Given the description of an element on the screen output the (x, y) to click on. 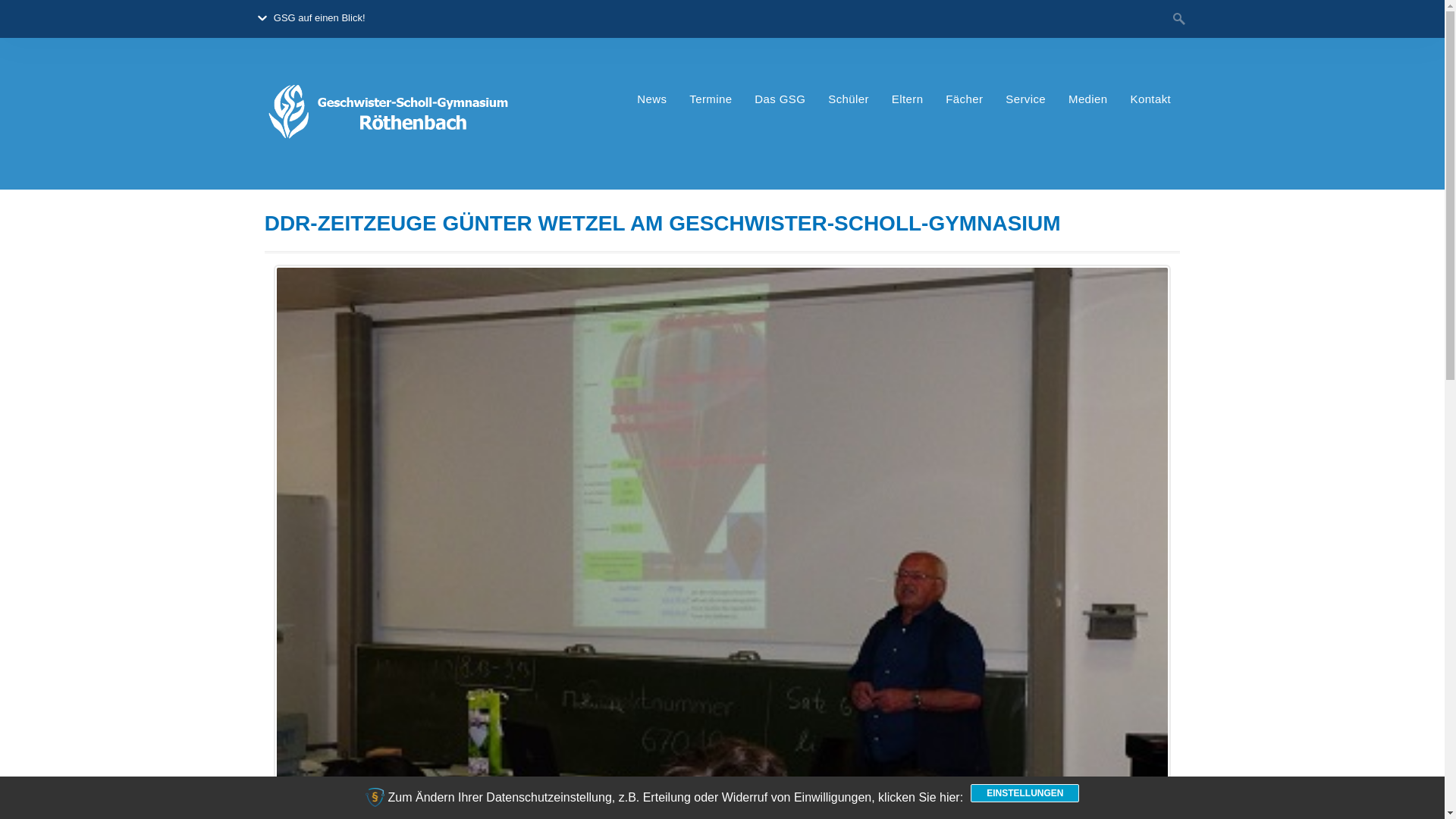
Geschwister Scholl Gymnasium Element type: hover (390, 166)
Service Element type: text (1025, 99)
Eltern Element type: text (907, 99)
Das GSG Element type: text (779, 99)
Kontakt Element type: text (1149, 99)
WP DSGVO Tools (GDPR) for Wordpress and WooCommerce Element type: hover (374, 796)
EINSTELLUNGEN Element type: text (1024, 793)
Termine Element type: text (710, 99)
Medien Element type: text (1087, 99)
News Element type: text (651, 99)
Search Element type: text (29, 14)
